Given the description of an element on the screen output the (x, y) to click on. 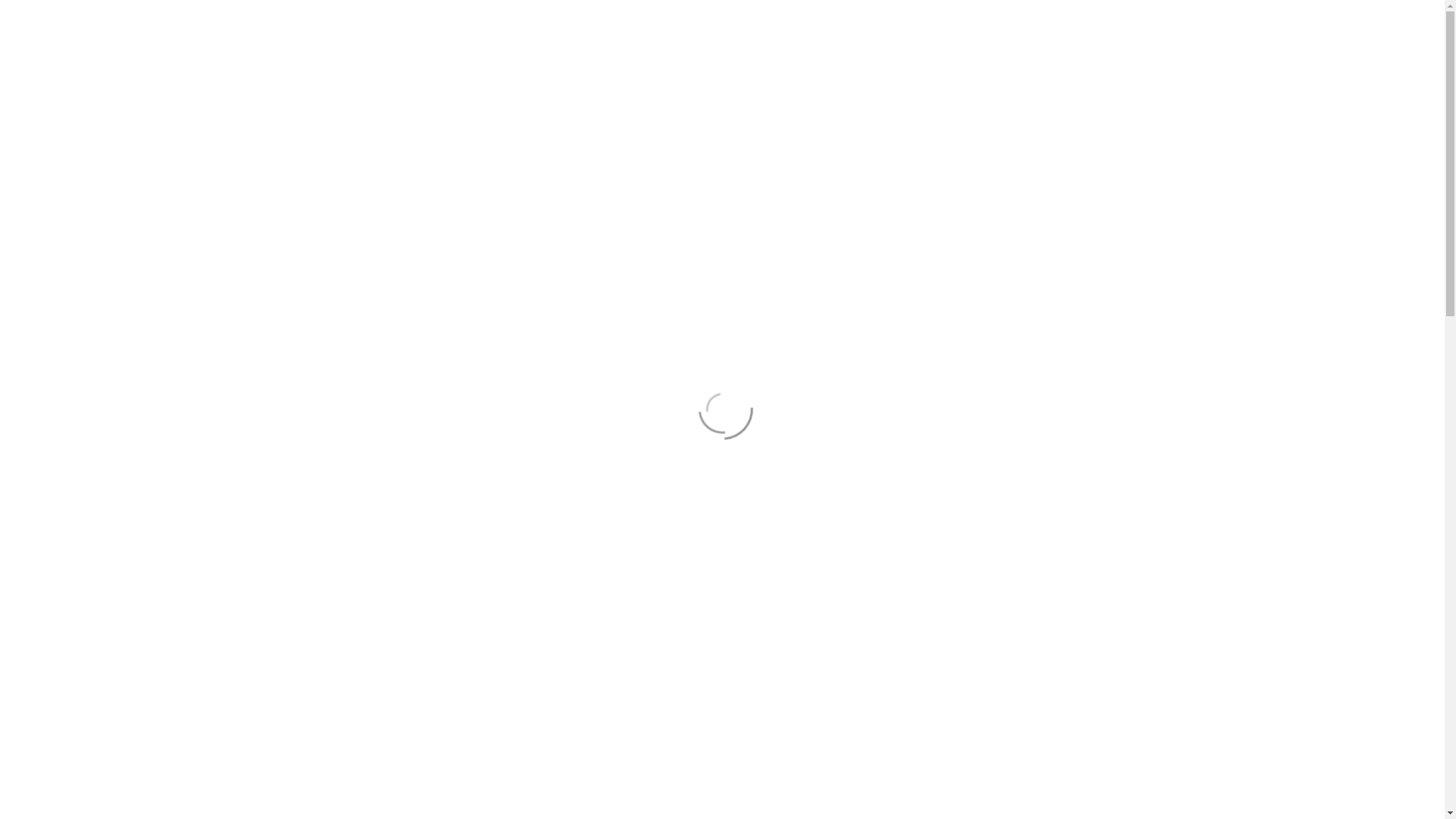
Gastenboek Element type: text (537, 61)
Prijzen en beschikbaarheid Element type: text (914, 61)
Locatie Element type: text (1131, 13)
Home Element type: text (318, 61)
COVID-19 Element type: text (330, 99)
Informatie Element type: text (389, 61)
Huisregels Element type: text (1046, 61)
Reserveer Element type: text (624, 61)
Wat te doen in de buurt Element type: text (744, 61)
Contacteer ons Element type: text (1053, 13)
Last Minutes ! Element type: text (421, 99)
